Given the description of an element on the screen output the (x, y) to click on. 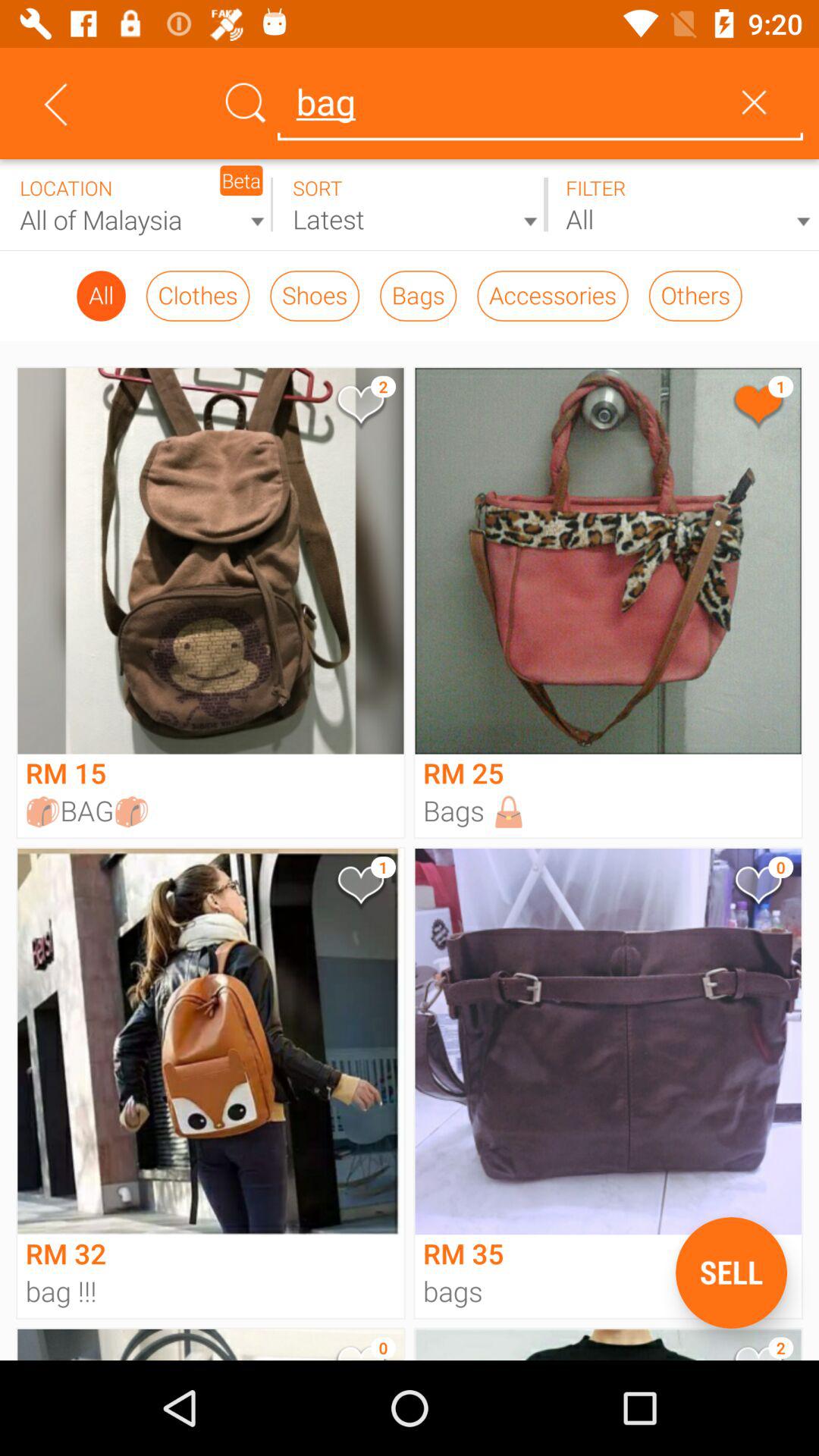
add to favorites (757, 888)
